Given the description of an element on the screen output the (x, y) to click on. 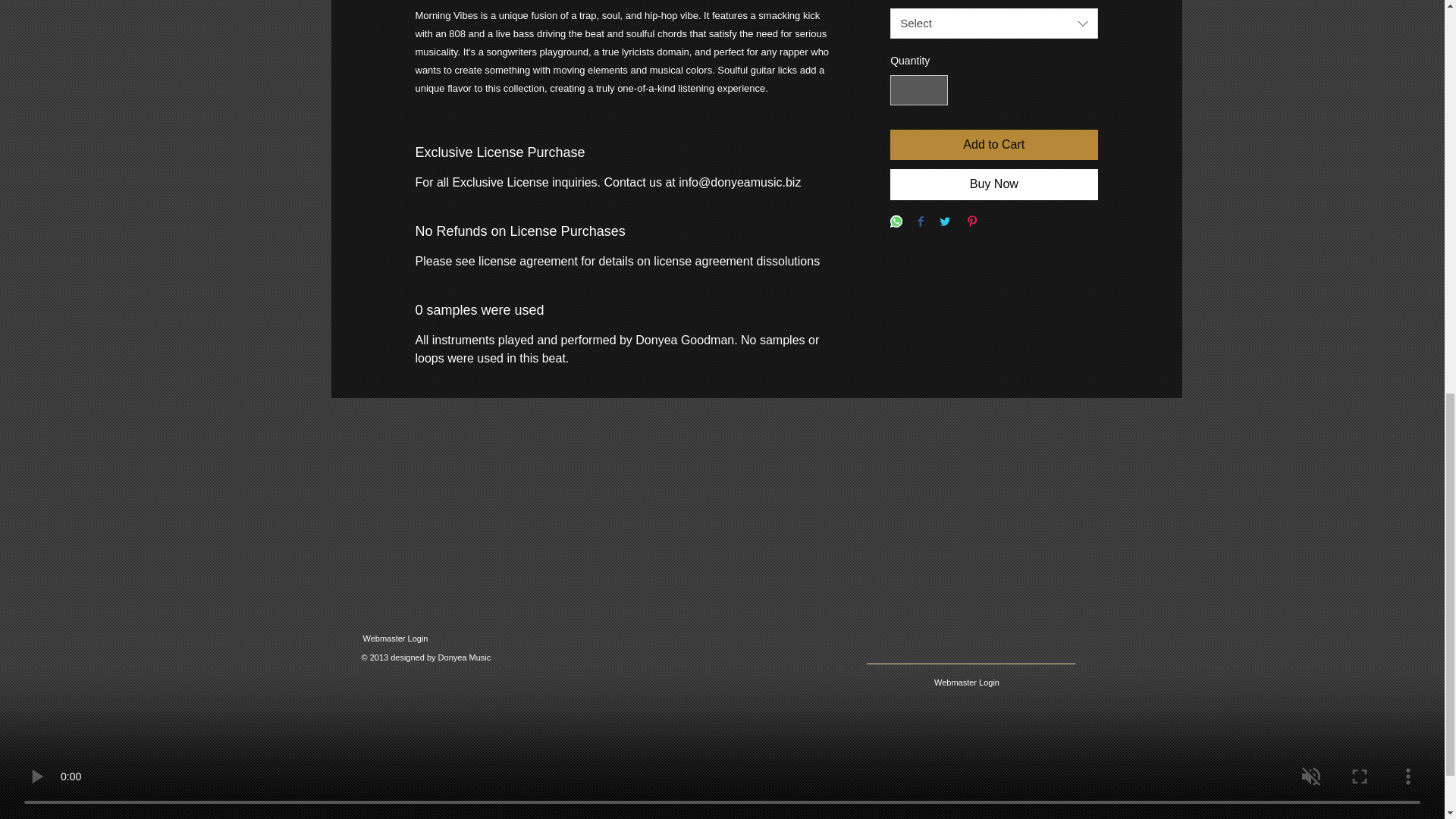
Add to Cart (993, 144)
Select (993, 23)
1 (918, 90)
Webmaster Login (965, 682)
Webmaster Login (395, 638)
Embedded Content (432, 688)
Buy Now (993, 183)
